Given the description of an element on the screen output the (x, y) to click on. 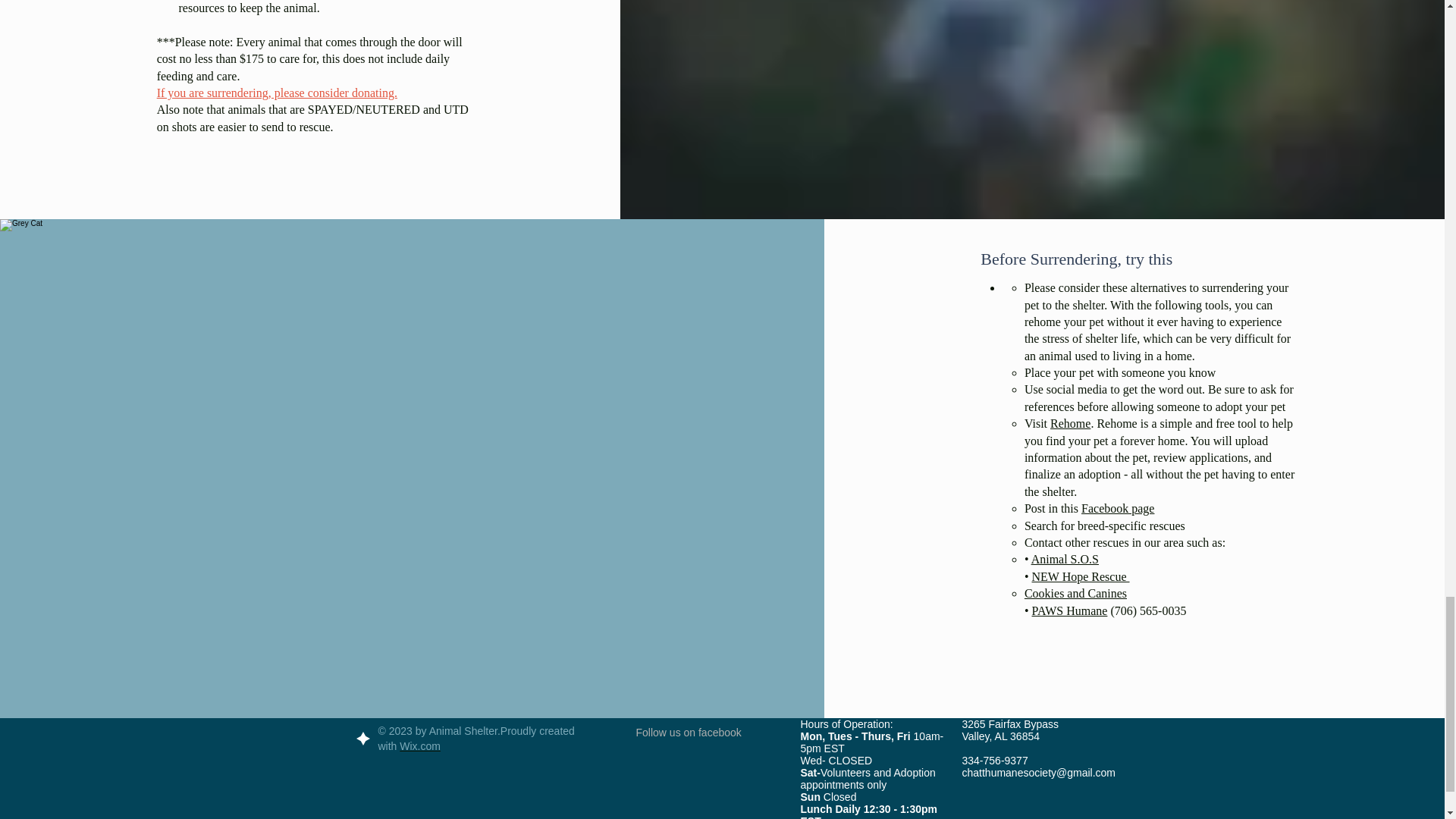
Cookies and Canines (1075, 593)
Facebook page (1117, 508)
NEW Hope Rescue  (1080, 576)
Facebook Like (705, 760)
Rehome (1069, 422)
PAWS Humane (1070, 610)
Animal S.O.S (1064, 558)
Wix.com (419, 746)
